Given the description of an element on the screen output the (x, y) to click on. 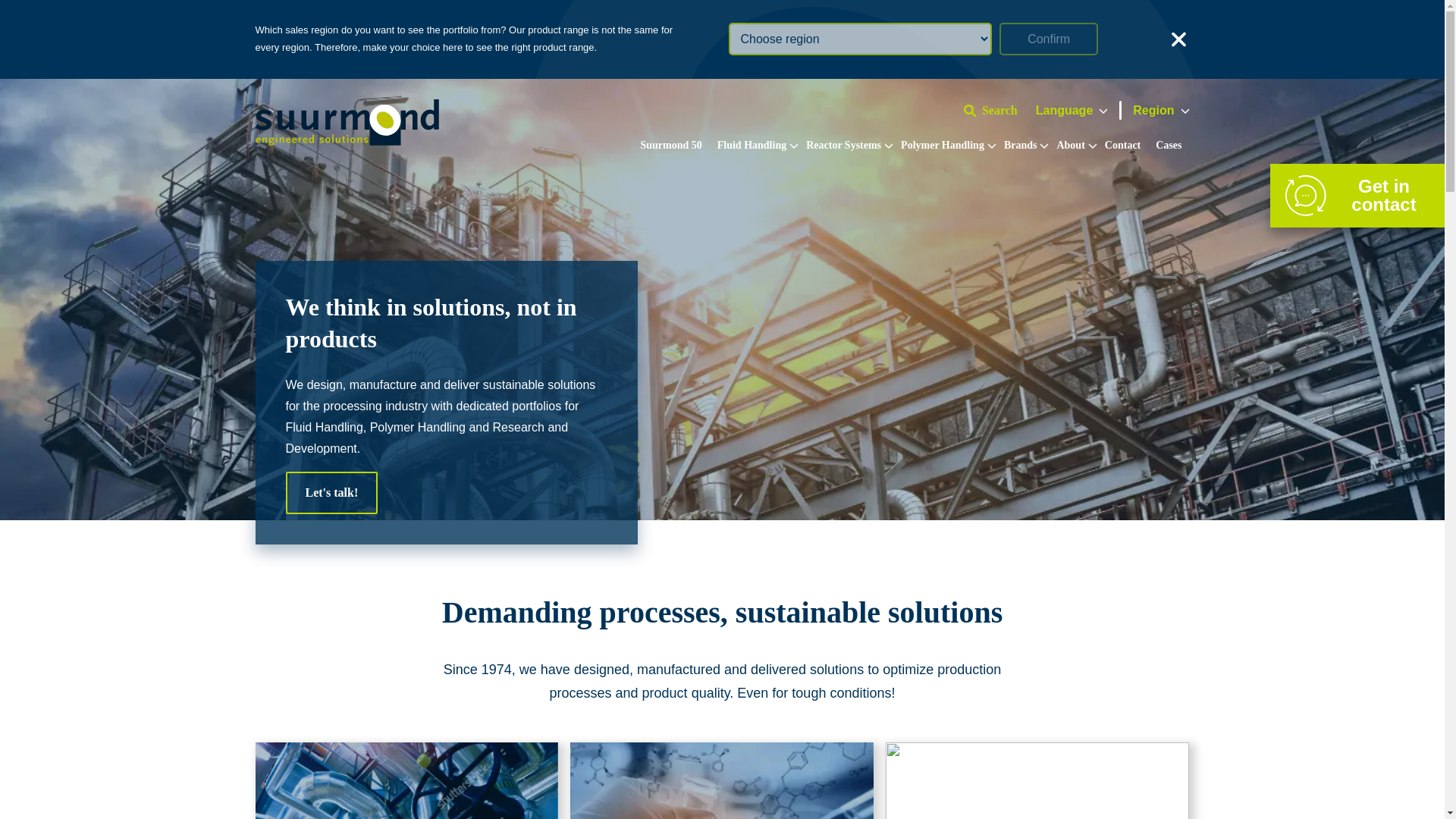
Zoeken (942, 126)
Get in contact (1356, 195)
Suurmond 50 (670, 145)
Reactor Systems (845, 145)
Search (996, 110)
Suurmond (346, 141)
Polymer Handling (944, 145)
Fluid Handling (753, 145)
Confirm (1047, 38)
